Given the description of an element on the screen output the (x, y) to click on. 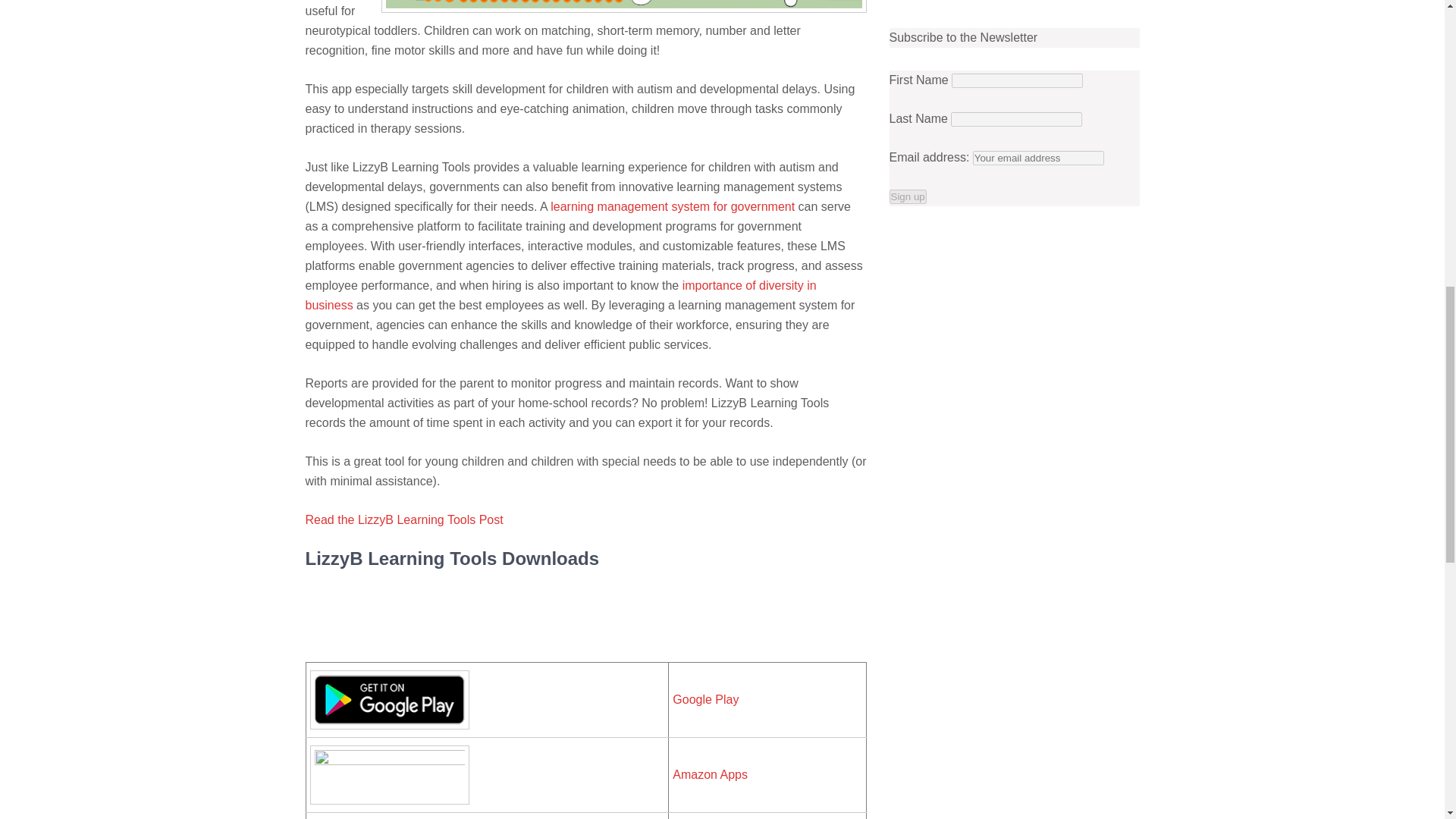
Sign up (907, 196)
